Given the description of an element on the screen output the (x, y) to click on. 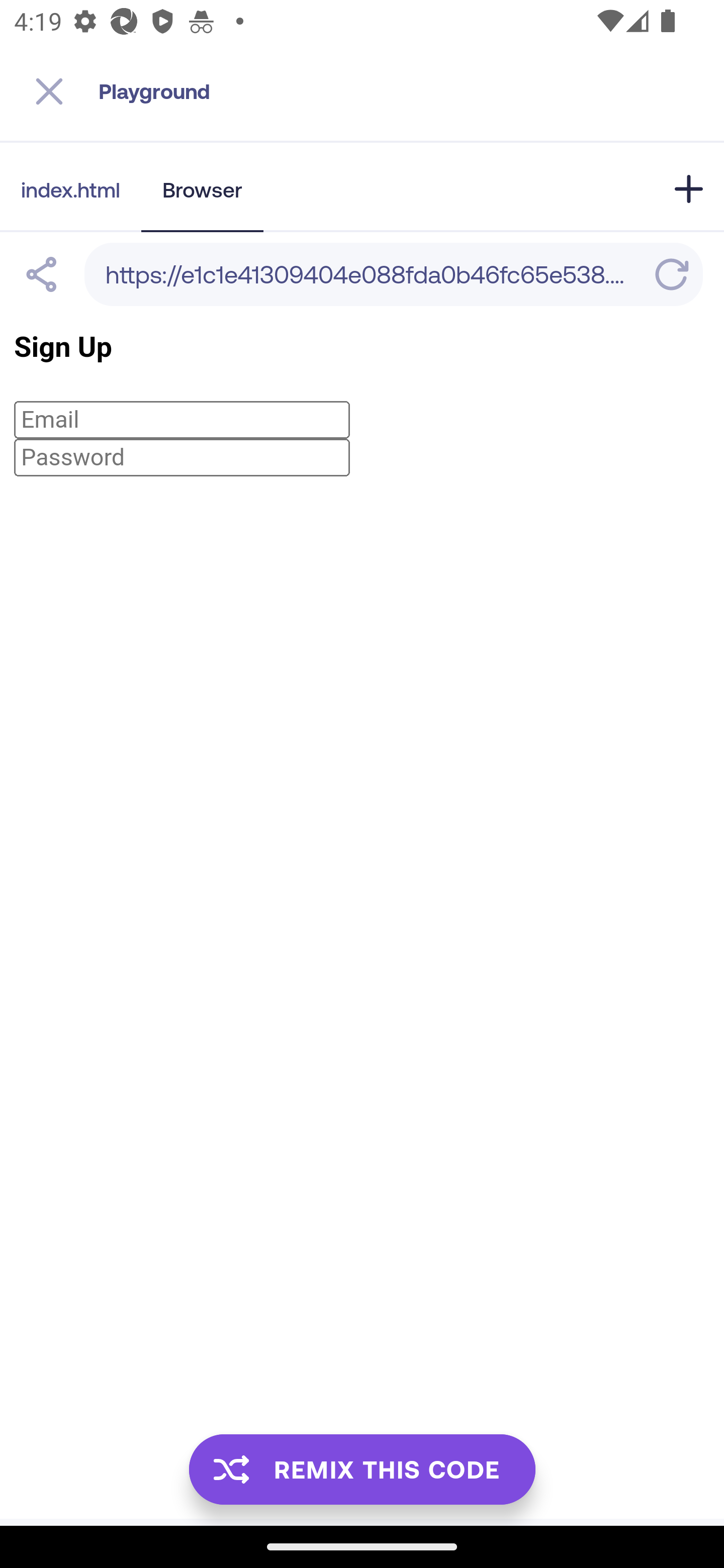
Navigate up (49, 91)
Playground (411, 91)
index.html (70, 189)
REMIX THIS CODE (361, 1469)
